Given the description of an element on the screen output the (x, y) to click on. 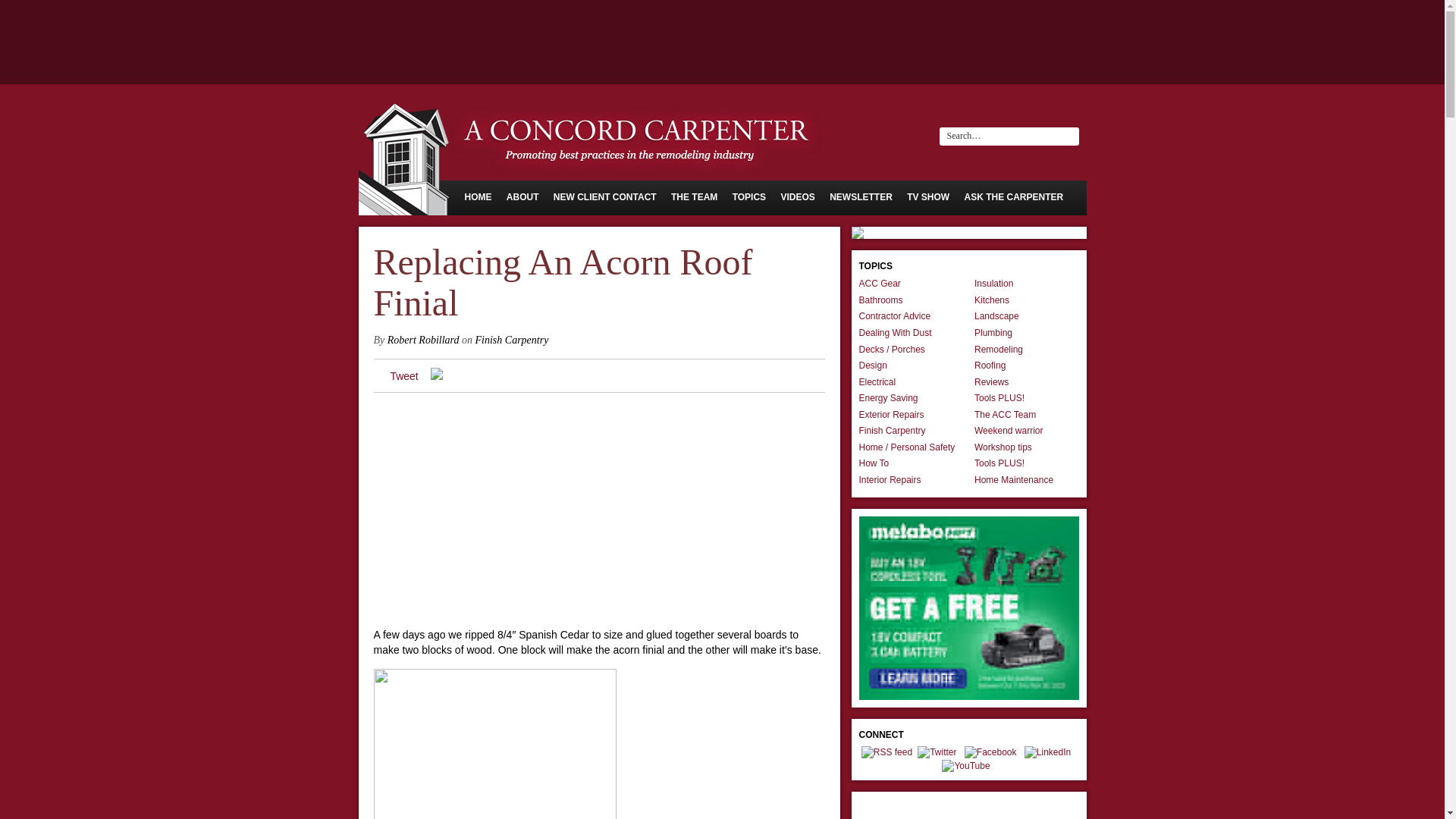
ABOUT (522, 196)
THE TEAM (694, 196)
NEW CLIENT CONTACT (604, 196)
HOME (478, 196)
ASK THE CARPENTER (1013, 196)
Click Here to Find Answers to All Your Questions (1013, 196)
Tweet (403, 376)
VIDEOS (796, 196)
TOPICS (748, 196)
Finish Carpentry (512, 339)
